Given the description of an element on the screen output the (x, y) to click on. 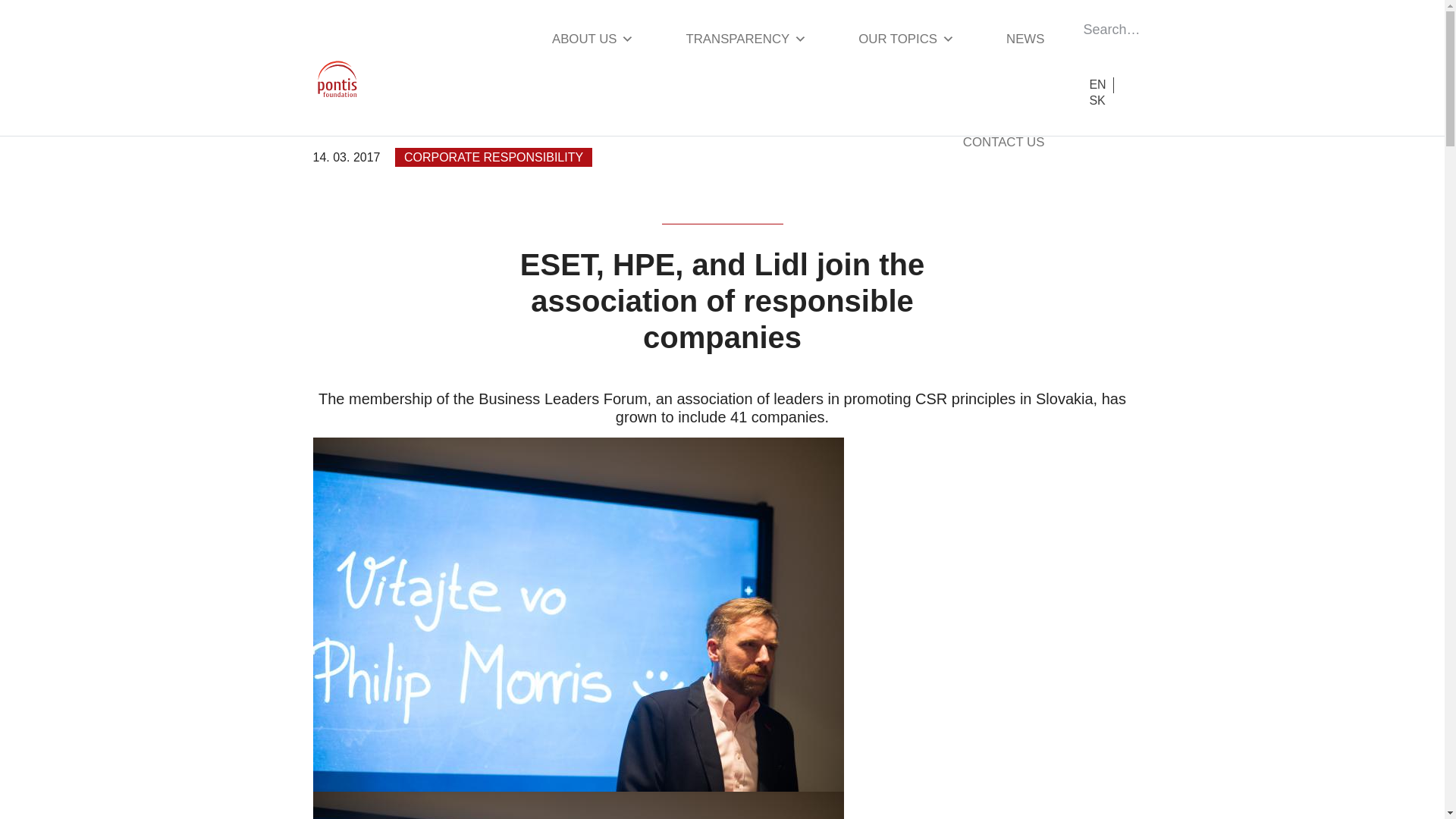
TRANSPARENCY (745, 44)
SK (1096, 100)
OUR TOPICS (906, 44)
CONTACT US (1004, 142)
SK (1096, 100)
ABOUT US (592, 44)
EN (1096, 84)
EN (1096, 84)
